Given the description of an element on the screen output the (x, y) to click on. 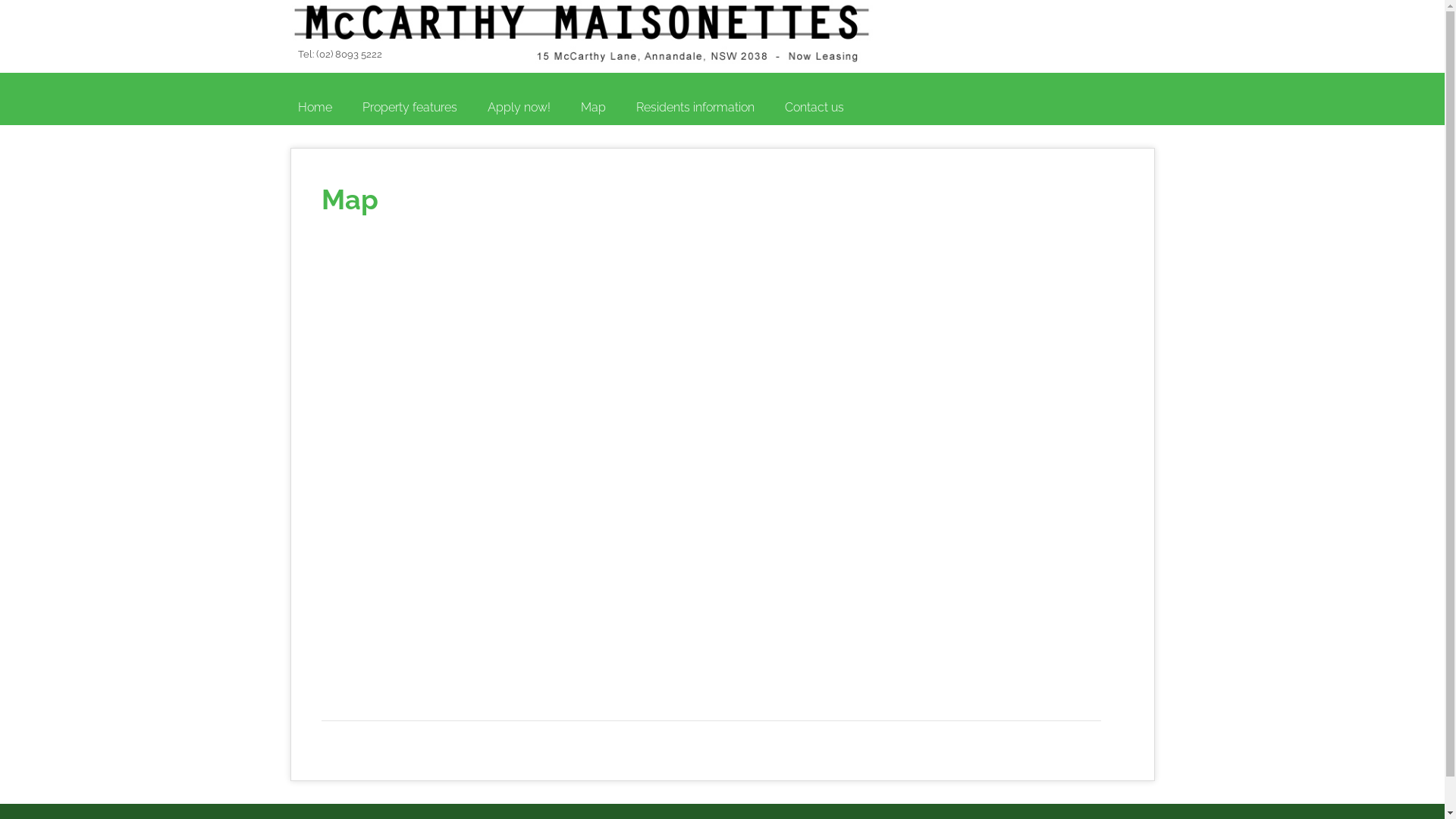
Home Element type: text (313, 107)
Property features Element type: text (409, 107)
Contact us Element type: text (813, 107)
Apply now! Element type: text (518, 107)
Residents information Element type: text (694, 107)
Map Element type: text (593, 107)
